Given the description of an element on the screen output the (x, y) to click on. 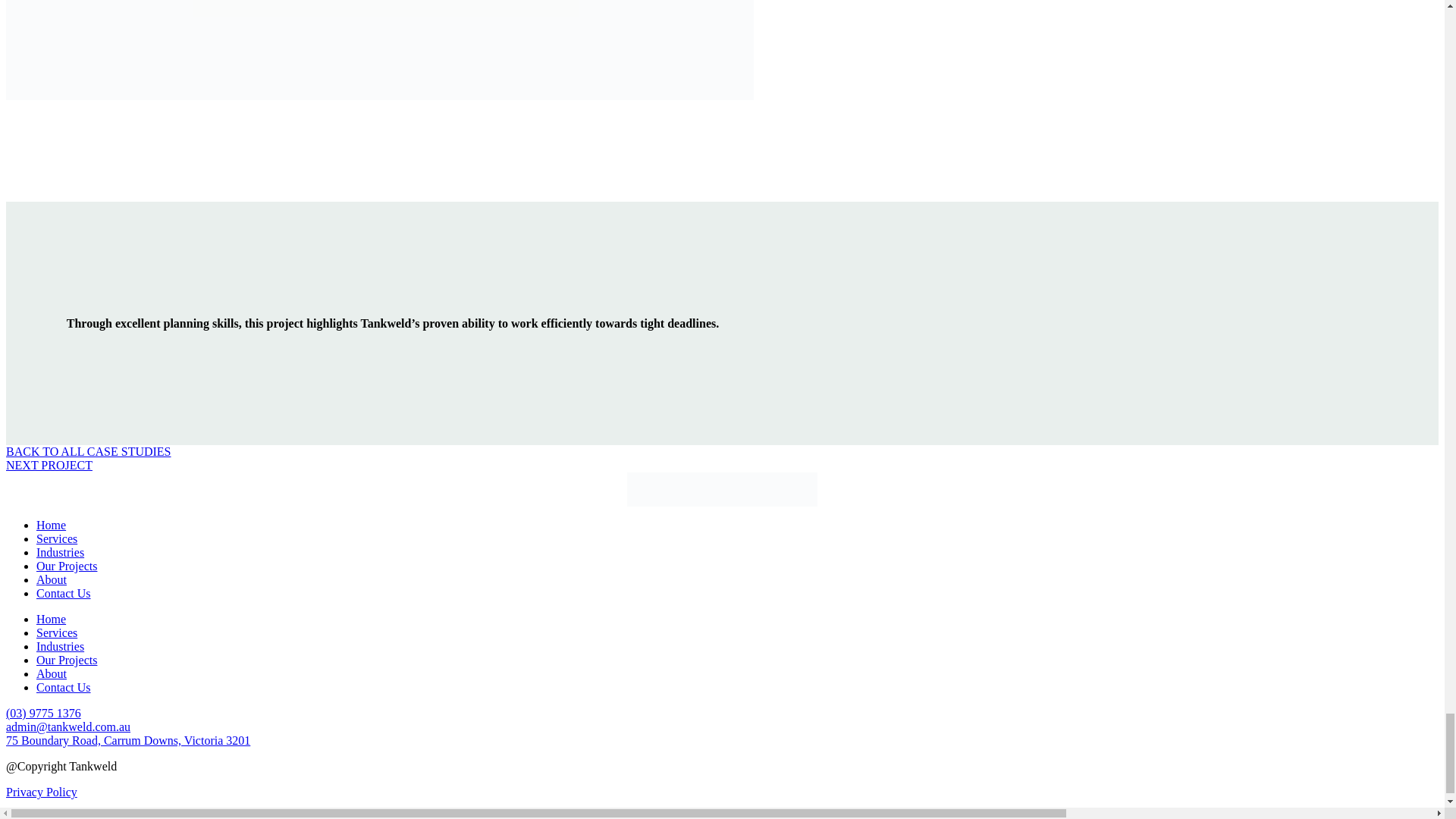
BACK TO ALL CASE STUDIES (88, 451)
NEXT PROJECT (49, 464)
